Given the description of an element on the screen output the (x, y) to click on. 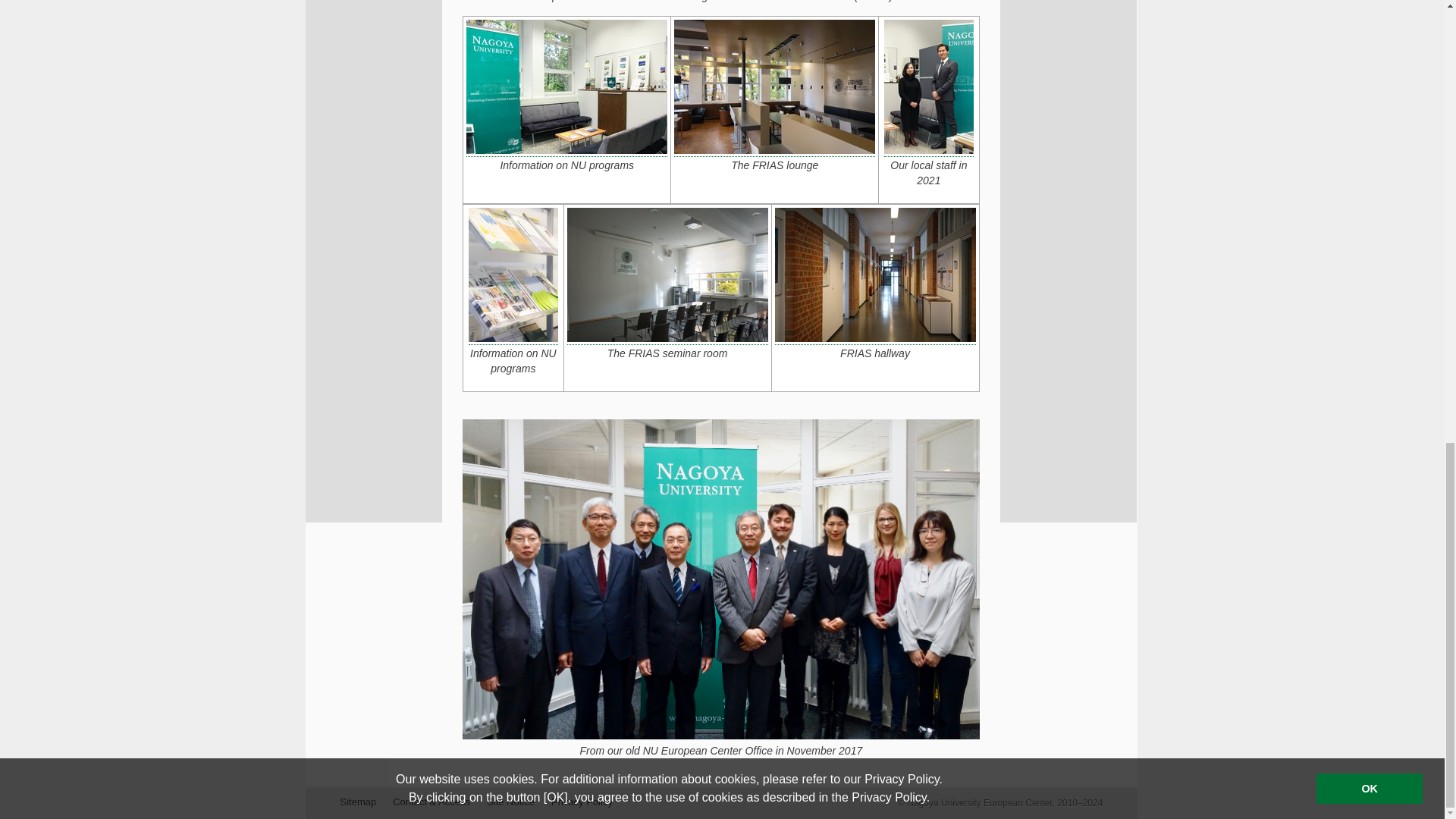
FRIAS Seminar Room (667, 275)
